Given the description of an element on the screen output the (x, y) to click on. 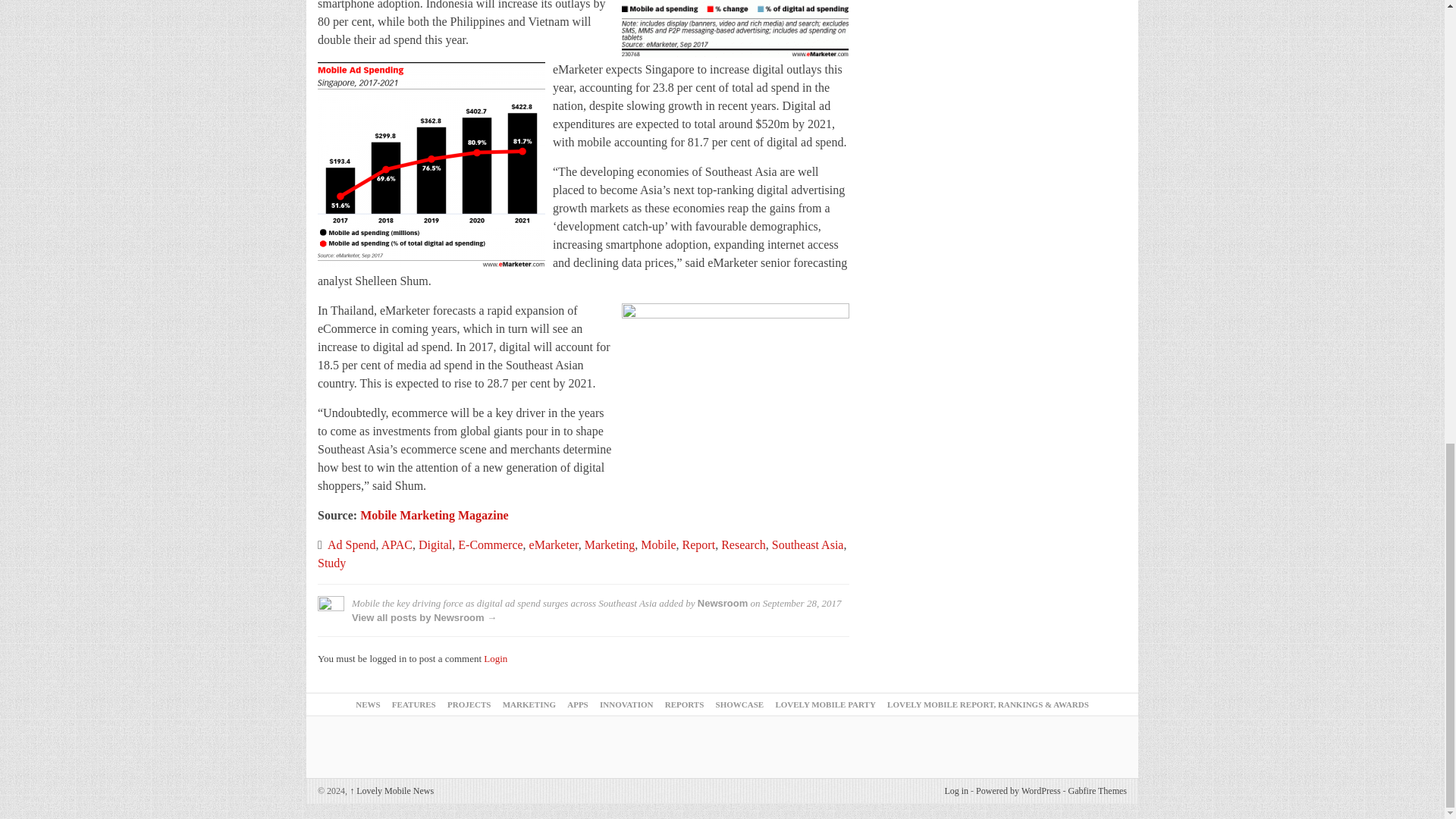
APAC (396, 544)
Mobile (657, 544)
Marketing (609, 544)
Digital (435, 544)
Mobile Marketing Magazine (433, 514)
Ad Spend (351, 544)
E-Commerce (490, 544)
Lovely Mobile News (391, 790)
eMarketer (553, 544)
